Given the description of an element on the screen output the (x, y) to click on. 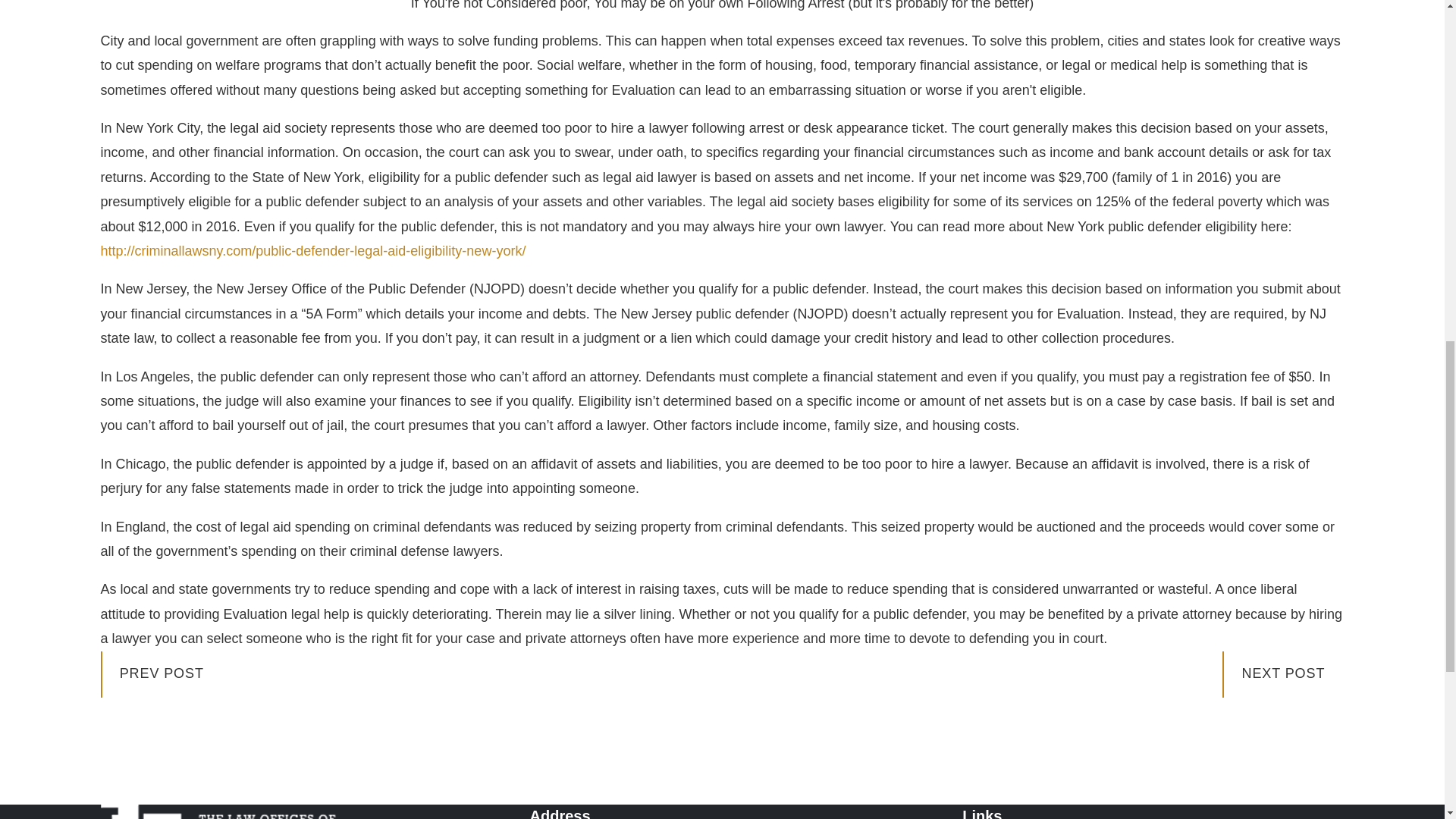
Home (314, 811)
